Given the description of an element on the screen output the (x, y) to click on. 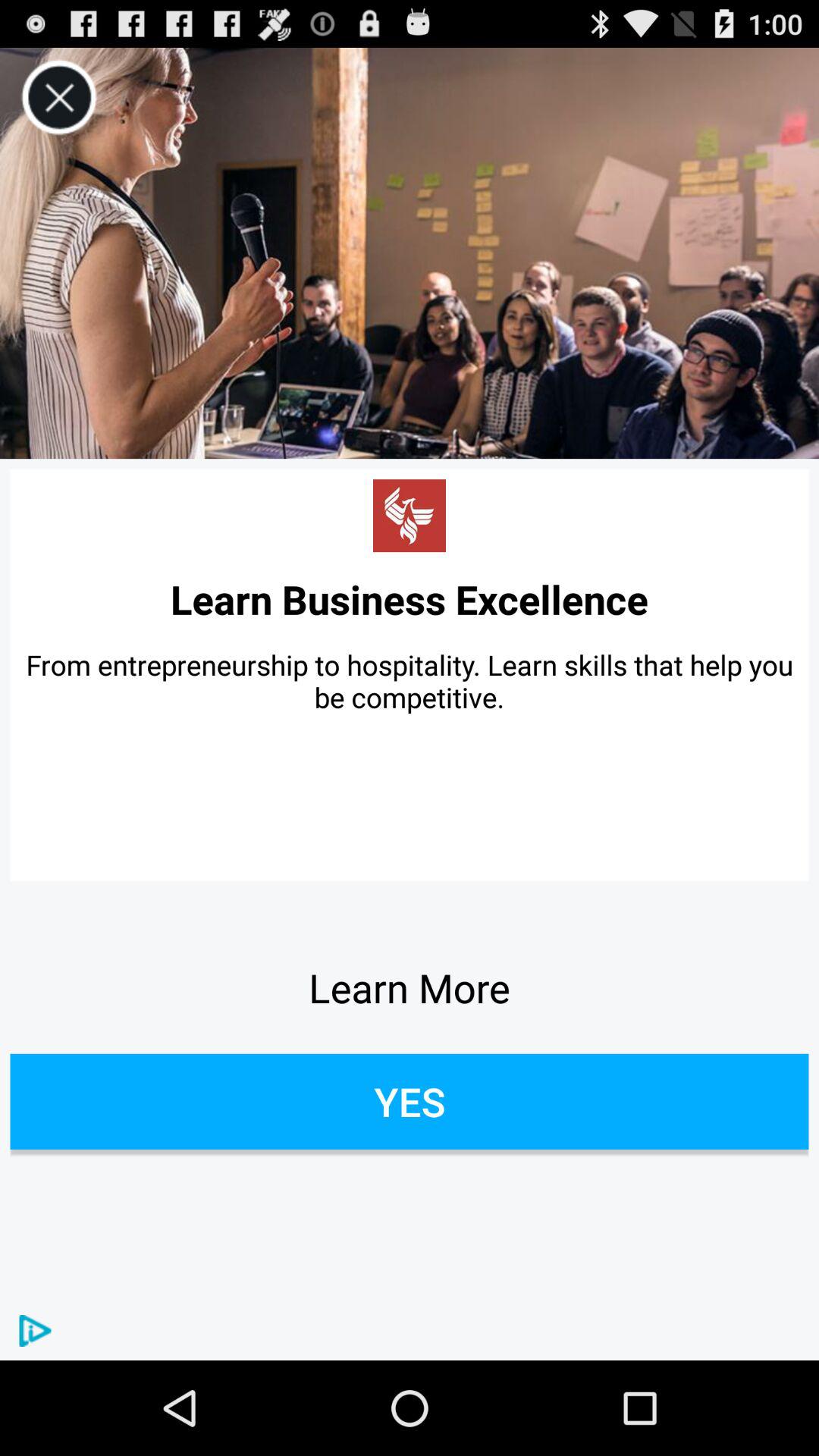
video (409, 252)
